Given the description of an element on the screen output the (x, y) to click on. 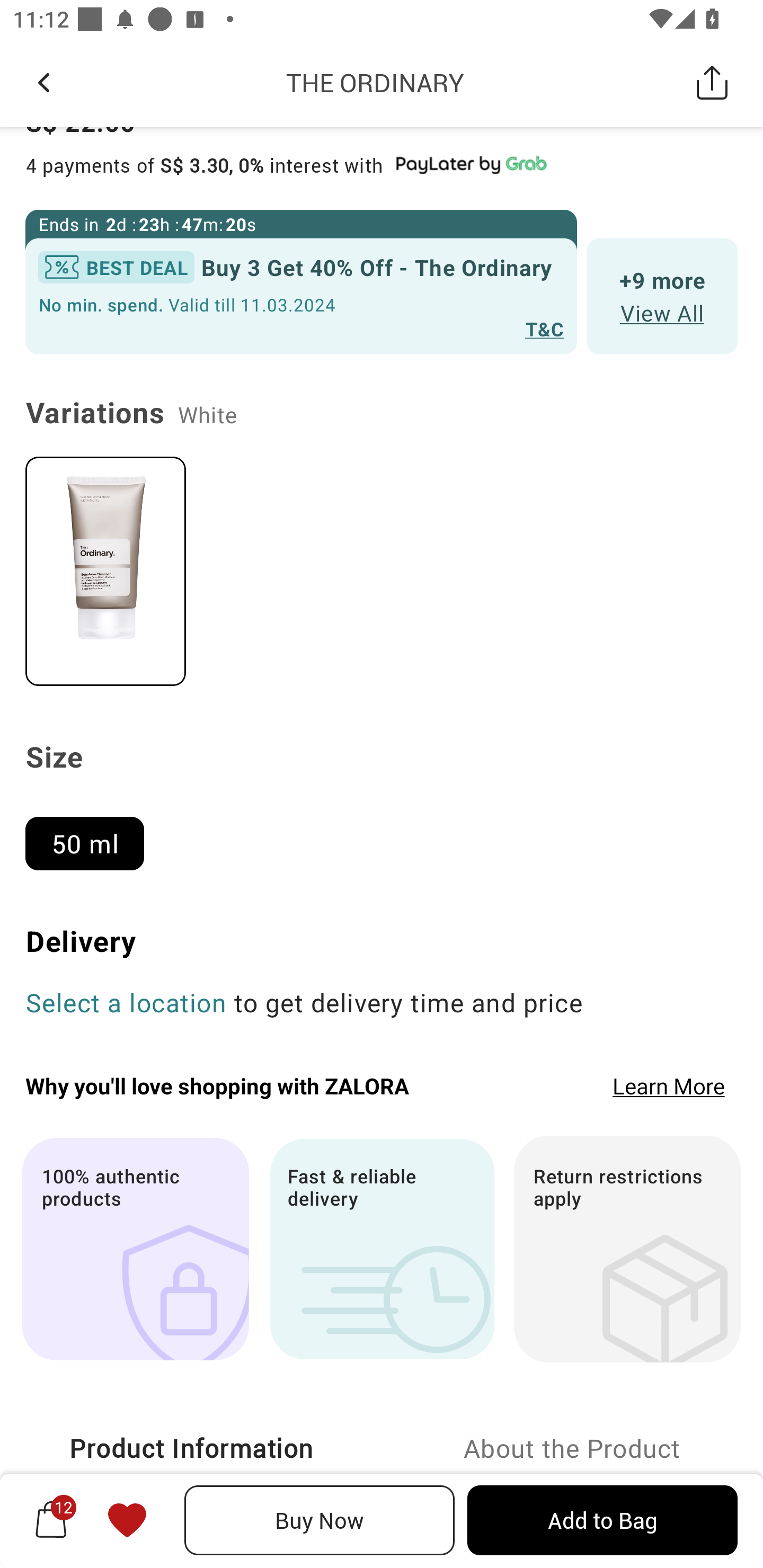
THE ORDINARY (375, 82)
Share this Product (711, 82)
+9 more
View All (661, 296)
T&C (544, 328)
50 ml (92, 835)
Learn More (668, 1085)
100% authentic products (135, 1248)
Fast & reliable delivery (381, 1248)
Return restrictions apply (627, 1248)
About the Product (572, 1447)
Buy Now (319, 1519)
Add to Bag (601, 1519)
12 (50, 1520)
